Given the description of an element on the screen output the (x, y) to click on. 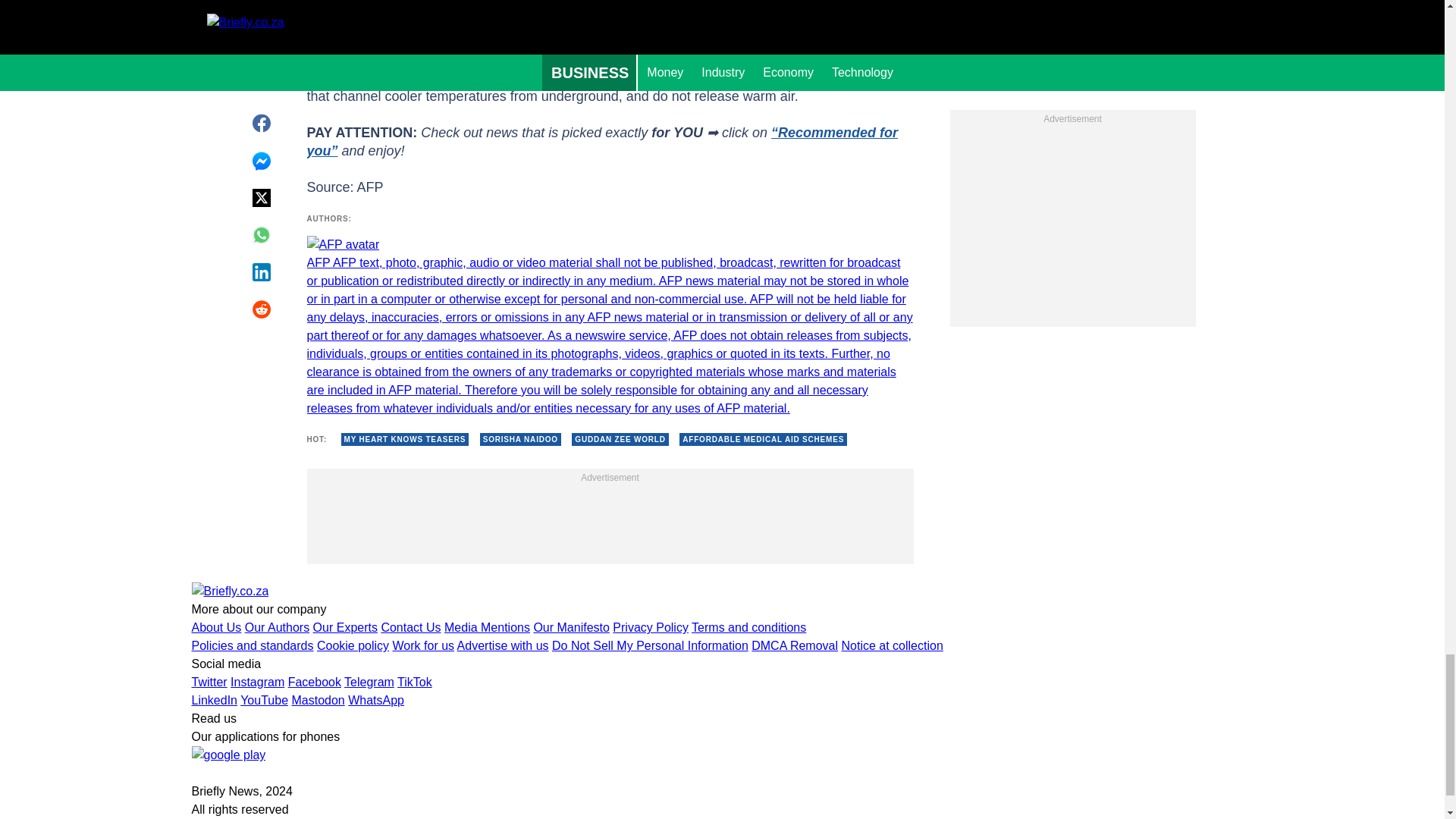
Author page (608, 326)
